Given the description of an element on the screen output the (x, y) to click on. 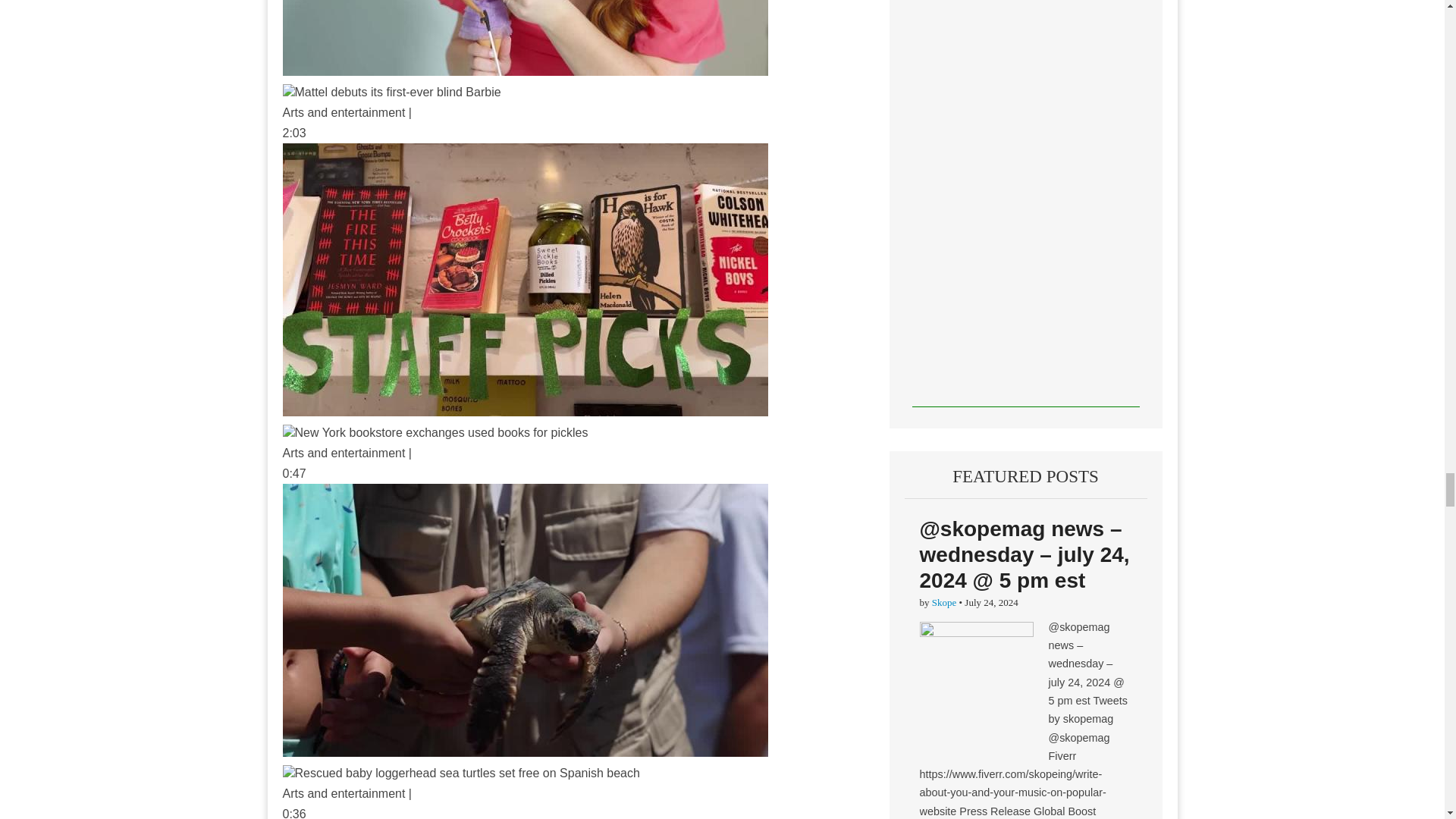
Posts by Skope (943, 602)
